Given the description of an element on the screen output the (x, y) to click on. 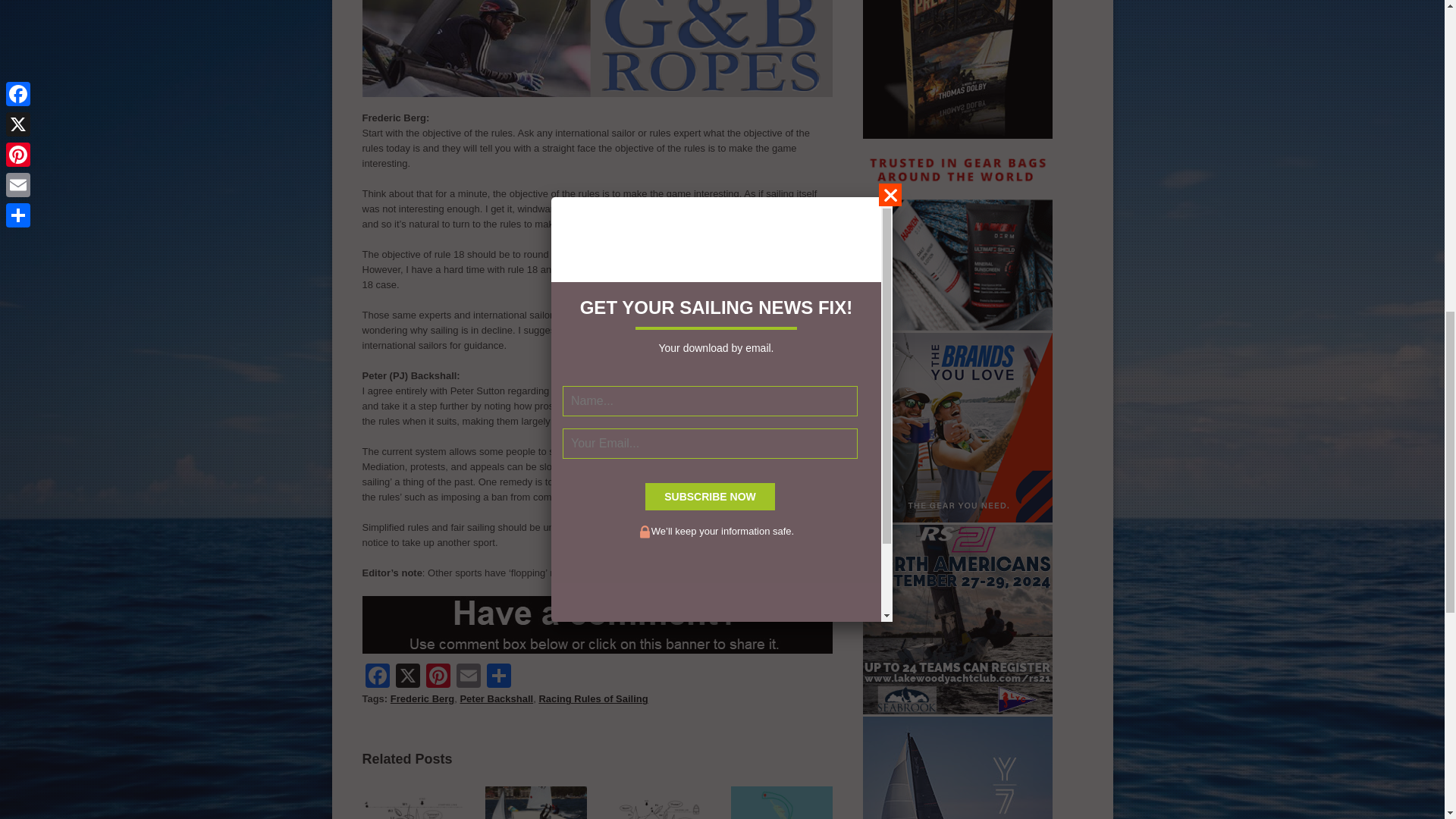
Peter Backshall (496, 698)
Racing Rules of Sailing (592, 698)
Email (467, 677)
Share (498, 677)
Facebook (377, 677)
X (408, 677)
Pinterest (437, 677)
X (408, 677)
Pinterest (437, 677)
Frederic Berg (422, 698)
Email (467, 677)
Facebook (377, 677)
